Given the description of an element on the screen output the (x, y) to click on. 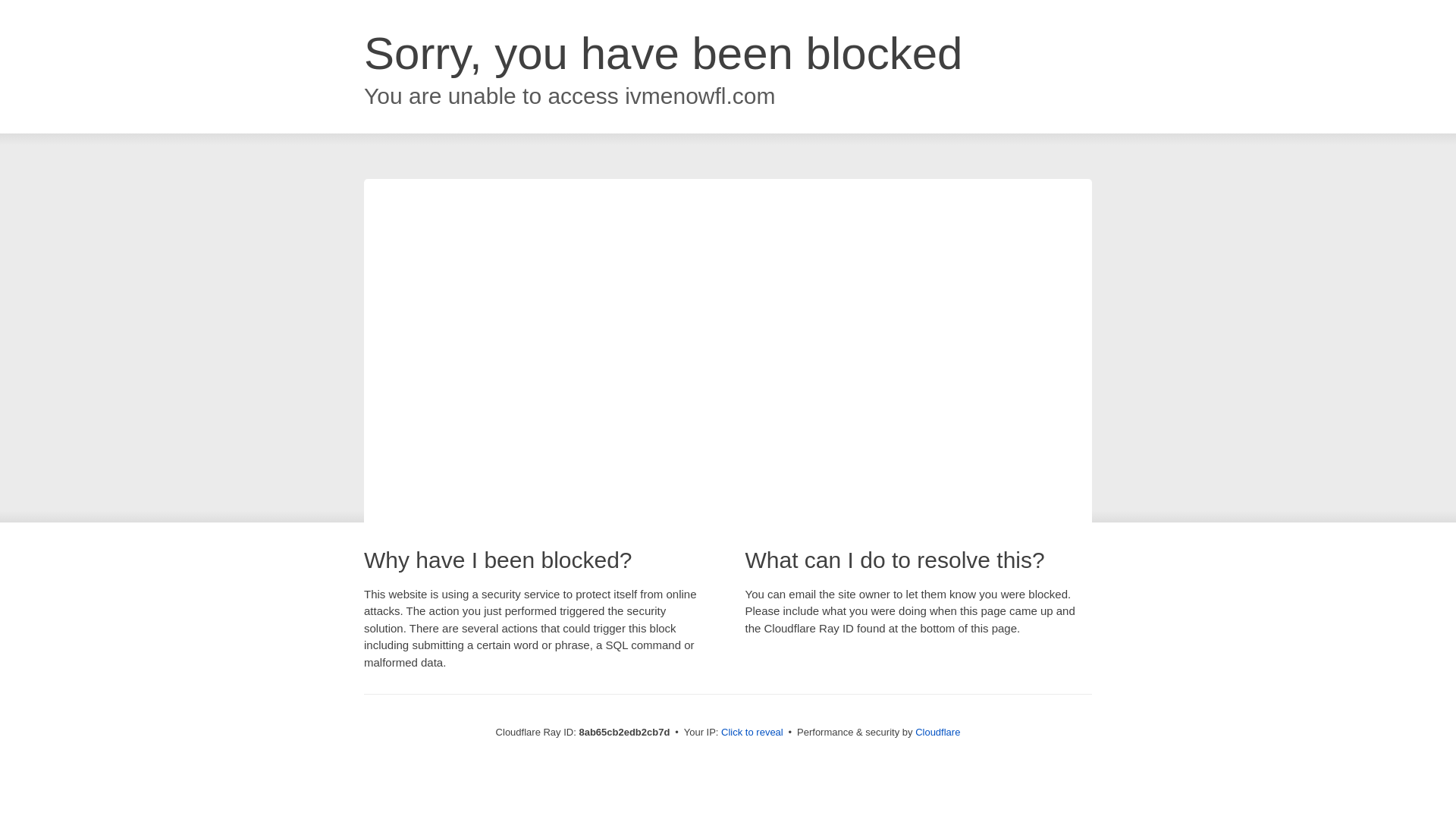
Cloudflare (937, 731)
Click to reveal (751, 732)
